Given the description of an element on the screen output the (x, y) to click on. 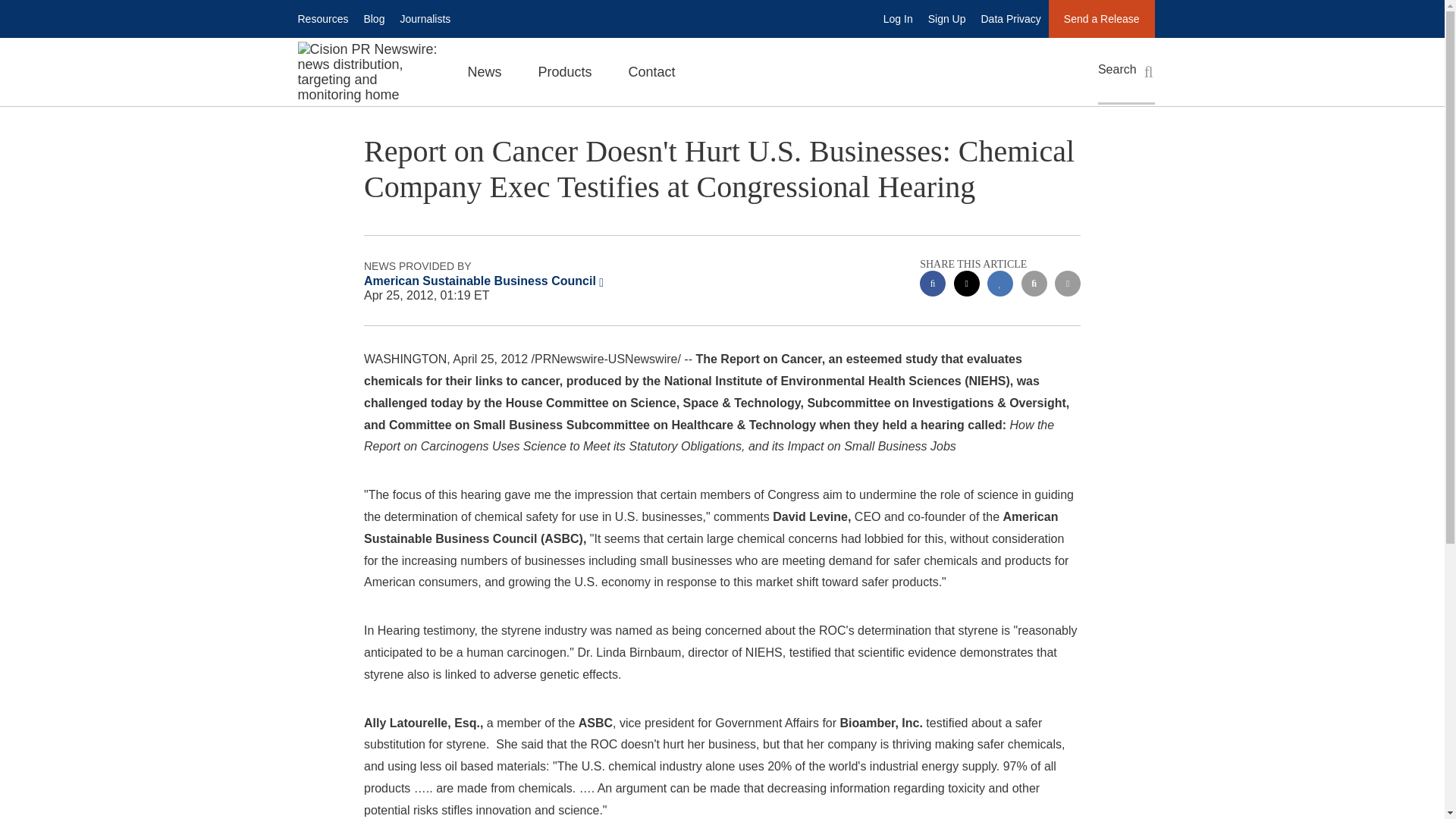
News (483, 71)
Blog (373, 18)
Contact (652, 71)
Sign Up (947, 18)
Send a Release (1101, 18)
Log In (898, 18)
Journalists (424, 18)
Resources (322, 18)
Data Privacy (1011, 18)
Products (564, 71)
